Given the description of an element on the screen output the (x, y) to click on. 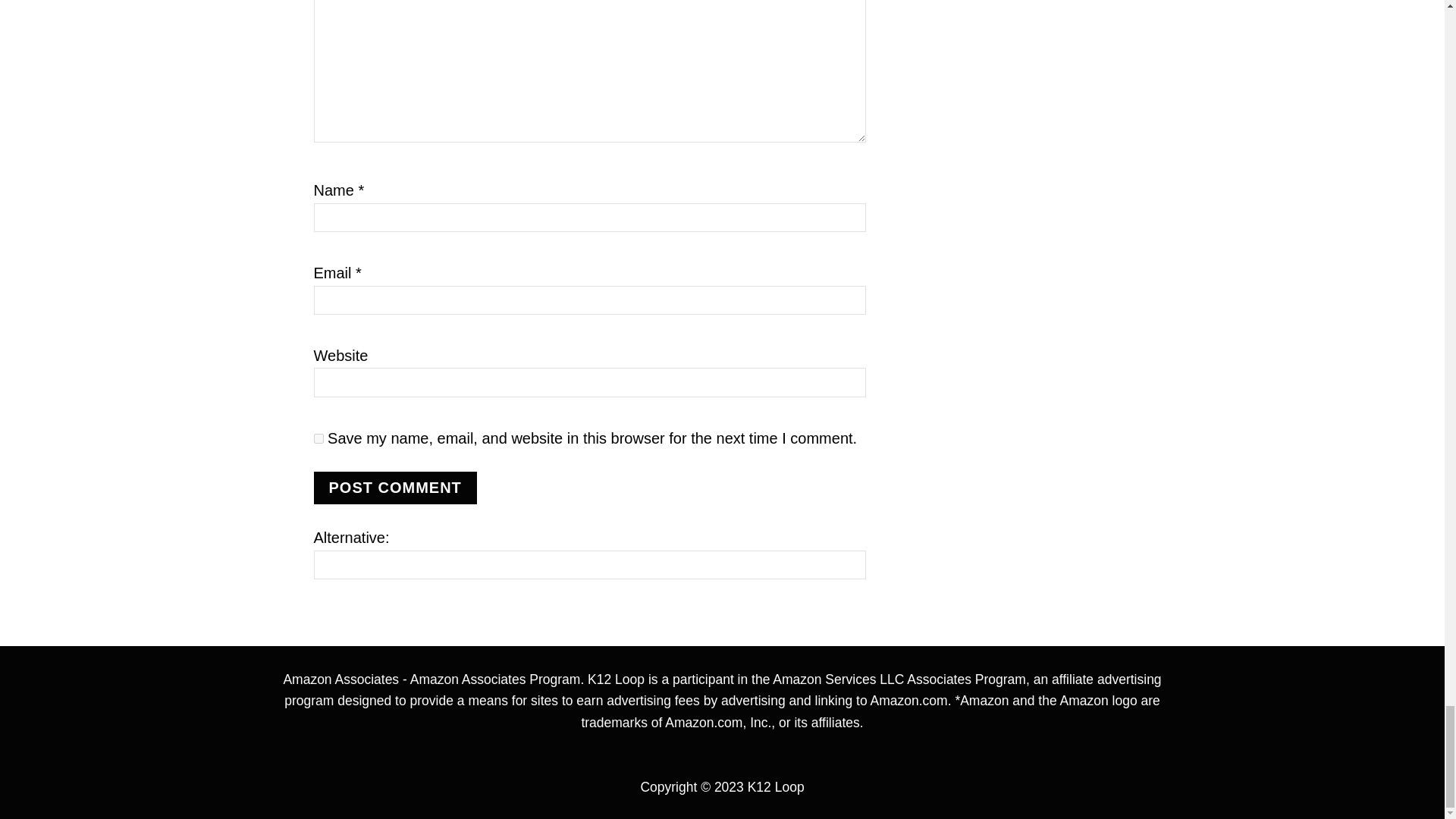
yes (318, 438)
Post Comment (395, 487)
